Given the description of an element on the screen output the (x, y) to click on. 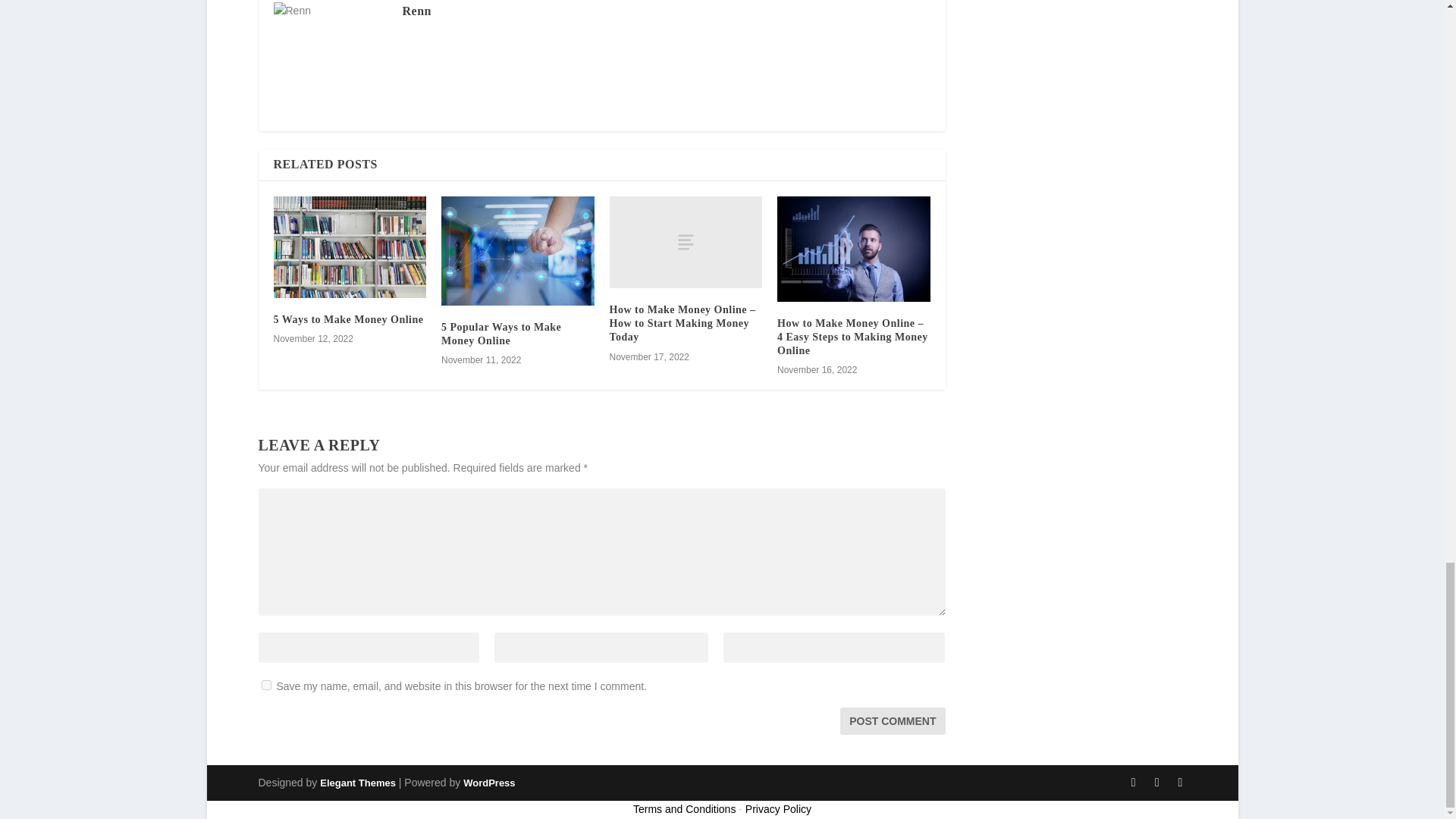
yes (265, 685)
Post Comment (892, 720)
Renn (415, 10)
5 Ways to Make Money Online (348, 319)
